Given the description of an element on the screen output the (x, y) to click on. 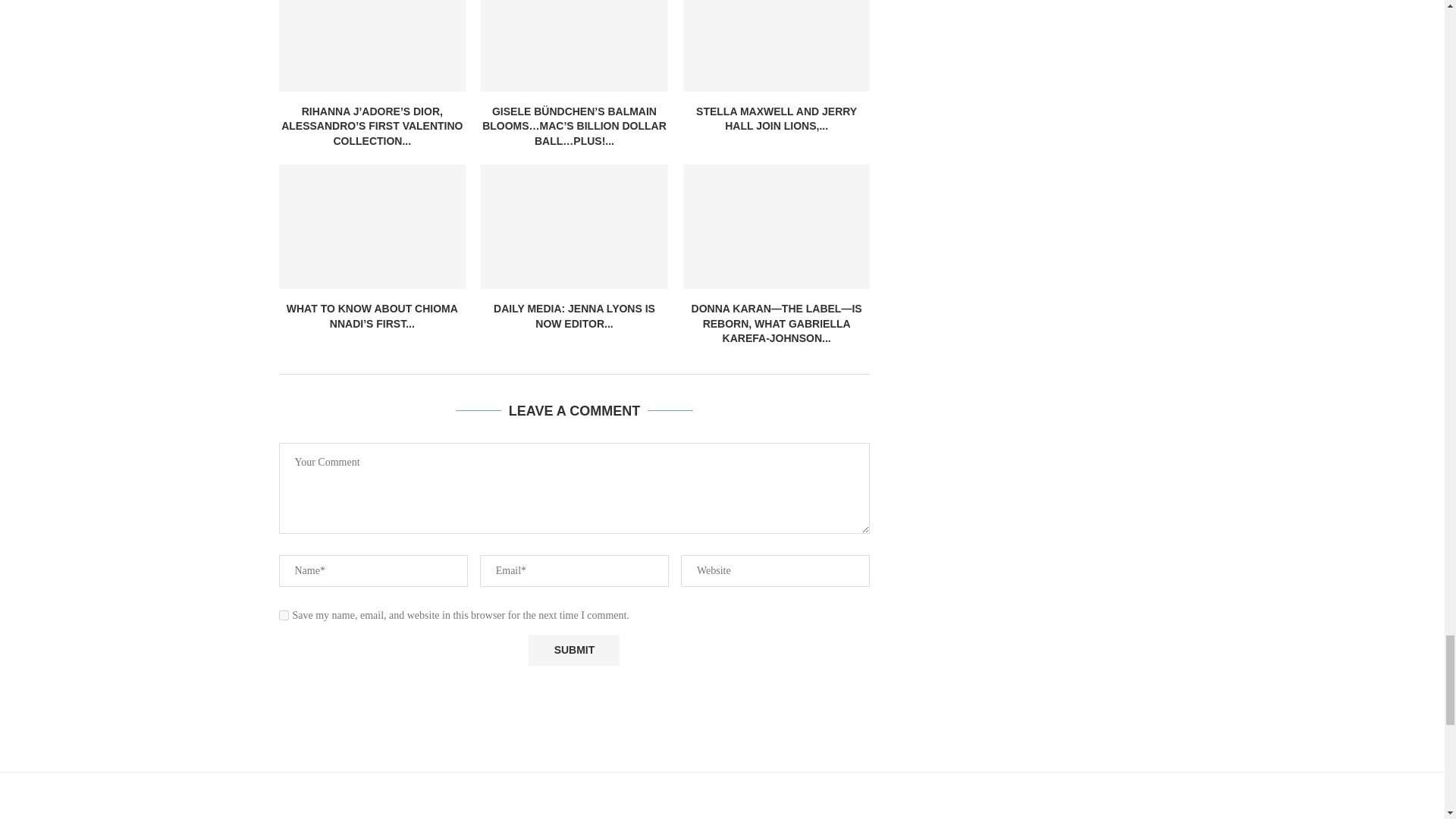
Submit (574, 649)
yes (283, 614)
